Given the description of an element on the screen output the (x, y) to click on. 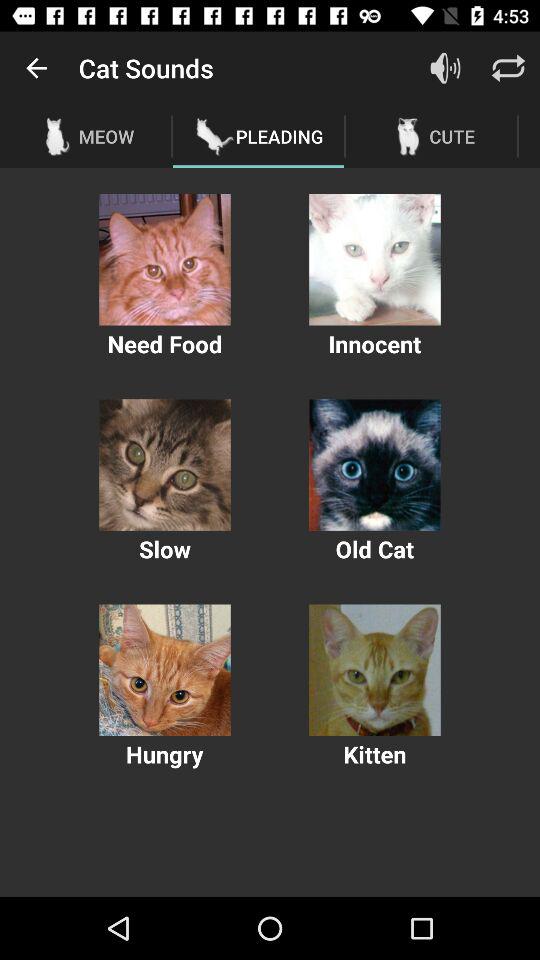
hungry cat sound option (164, 669)
